Given the description of an element on the screen output the (x, y) to click on. 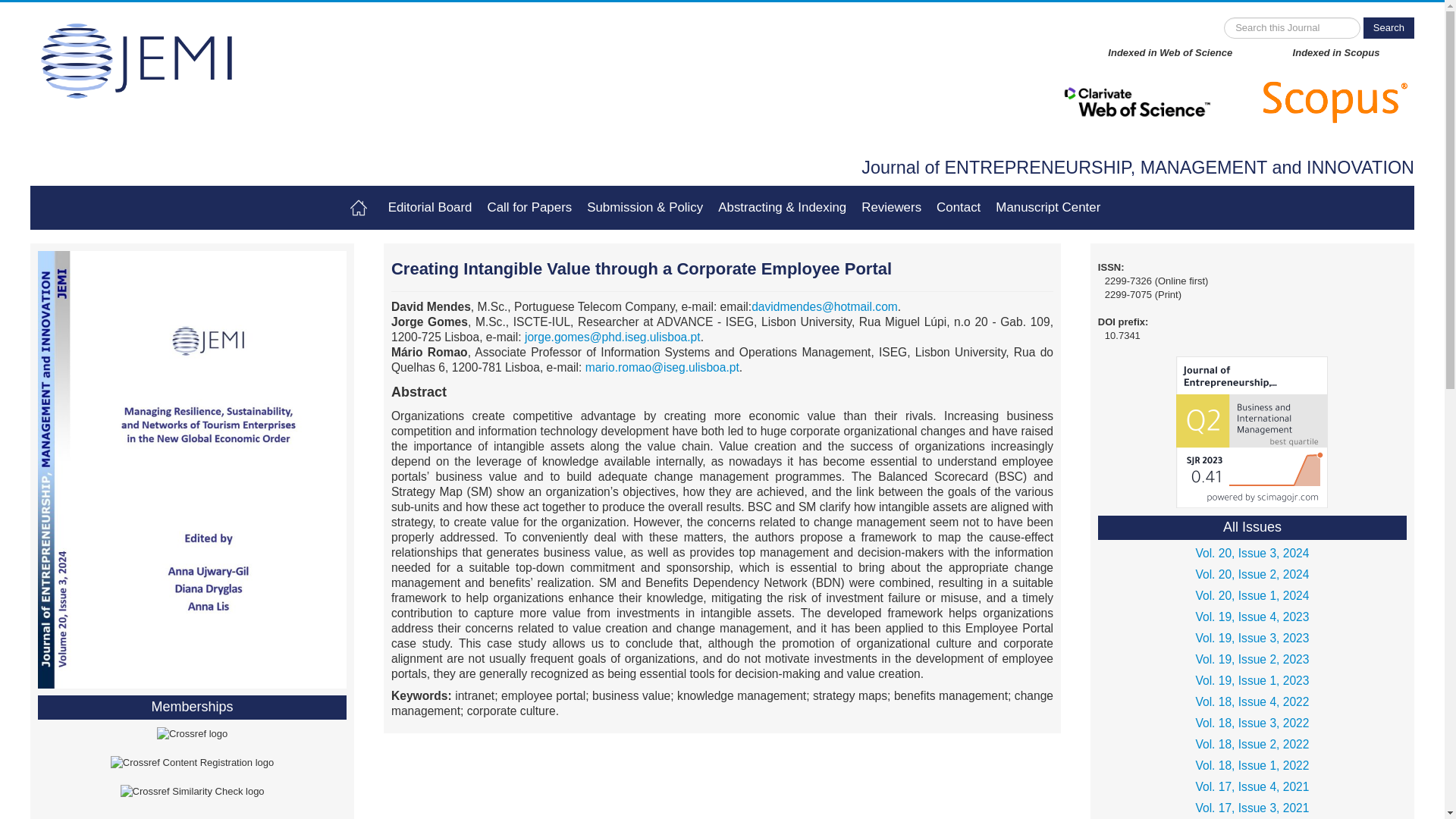
Contact (958, 207)
Vol. 17, Issue 3, 2021 (1251, 808)
Vol. 18, Issue 4, 2022 (1251, 701)
Vol. 18, Issue 1, 2022 (1251, 765)
Editorial Board (430, 207)
Vol. 20, Issue 2, 2024 (1251, 574)
Vol. 19, Issue 1, 2023 (1251, 680)
Vol. 20, Issue 1, 2024 (1251, 596)
Vol. 19, Issue 4, 2023 (1251, 617)
Vol. 20, Issue 3, 2024 (1251, 553)
